Given the description of an element on the screen output the (x, y) to click on. 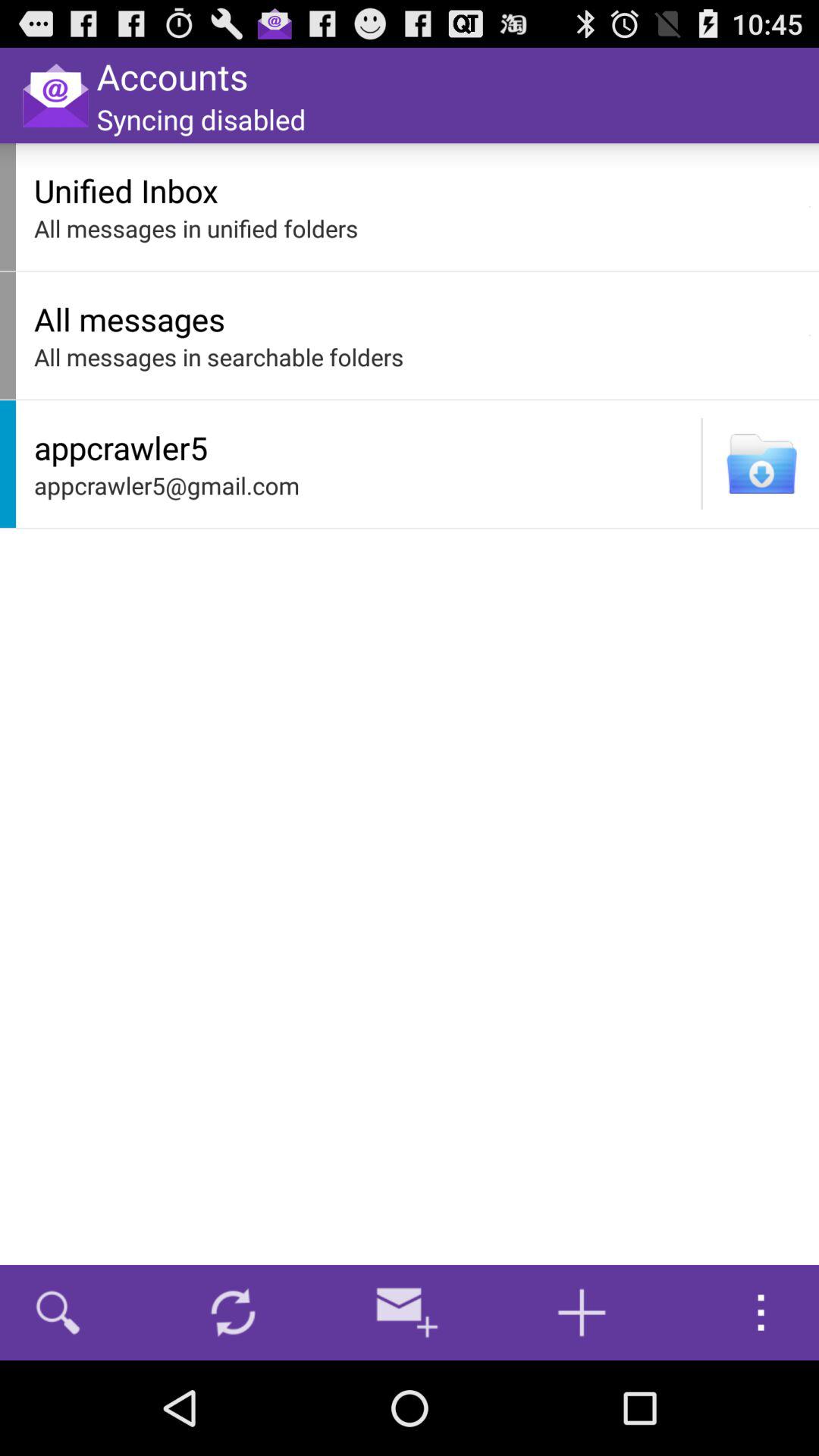
open item to the right of the all messages (809, 335)
